Given the description of an element on the screen output the (x, y) to click on. 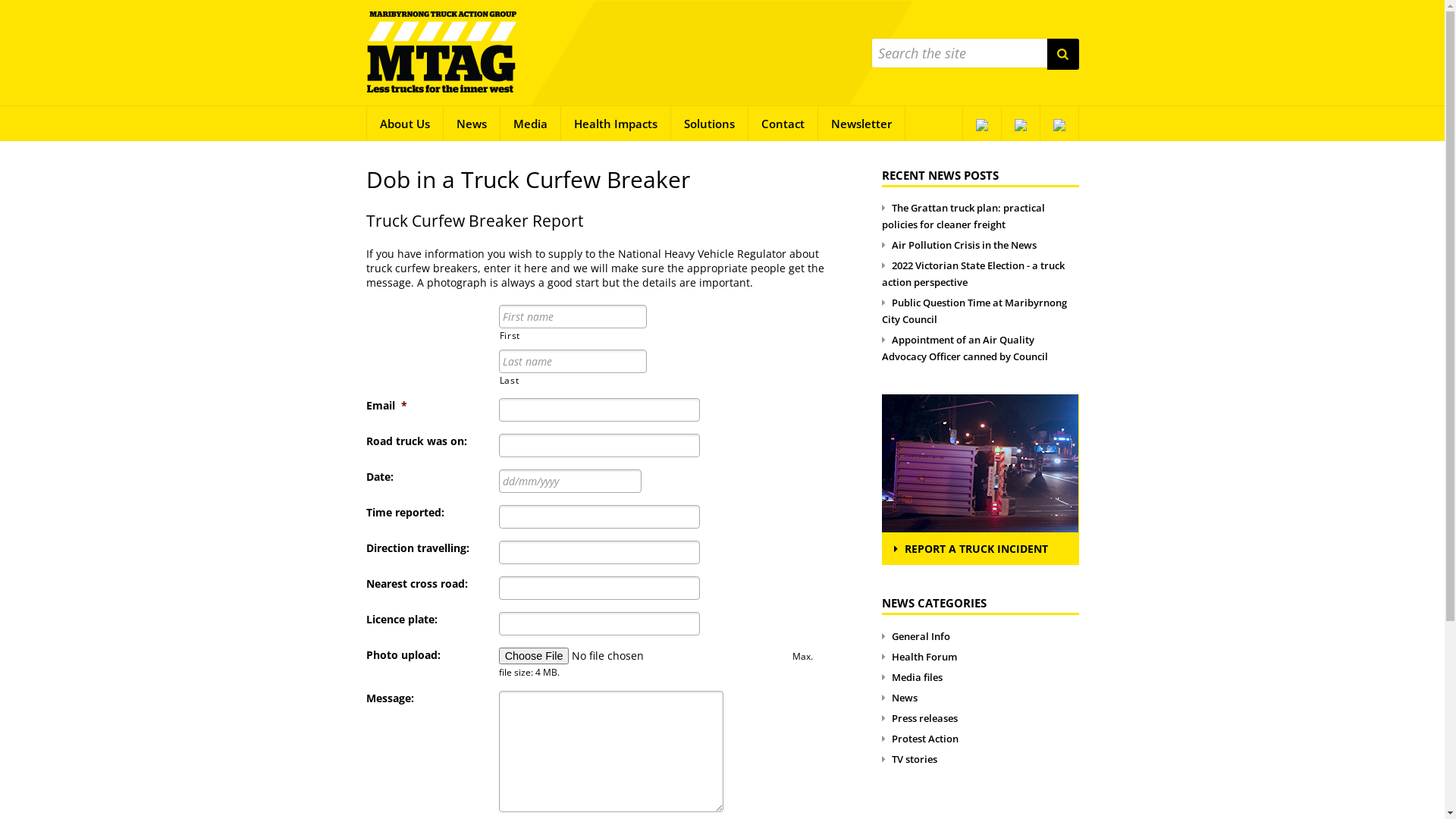
Public Question Time at Maribyrnong City Council Element type: text (973, 310)
Health Impacts Element type: text (616, 123)
2022 Victorian State Election - a truck action perspective Element type: text (972, 273)
TV stories Element type: text (908, 758)
General Info Element type: text (915, 636)
Press releases Element type: text (919, 717)
News Element type: text (898, 697)
Contact Element type: text (782, 123)
Newsletter Element type: text (860, 123)
Media Element type: text (530, 123)
Health Forum Element type: text (918, 656)
Air Pollution Crisis in the News Element type: text (958, 244)
Solutions Element type: text (708, 123)
REPORT A TRUCK INCIDENT Element type: text (979, 548)
Protest Action Element type: text (919, 738)
News Element type: text (470, 123)
Media files Element type: text (911, 677)
About Us Element type: text (403, 123)
